Given the description of an element on the screen output the (x, y) to click on. 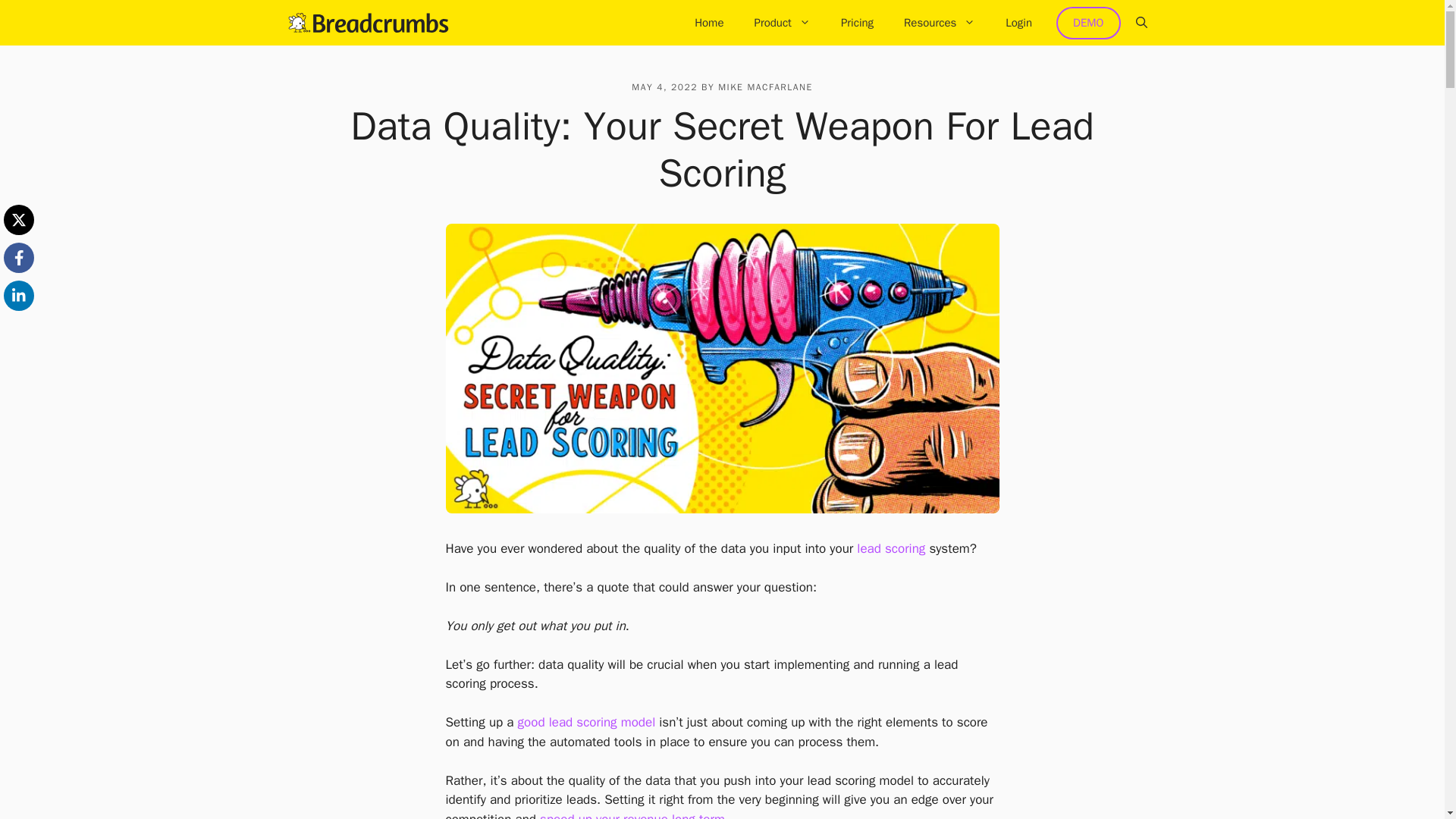
Product (781, 22)
Resources (939, 22)
Pricing (856, 22)
Home (708, 22)
